Given the description of an element on the screen output the (x, y) to click on. 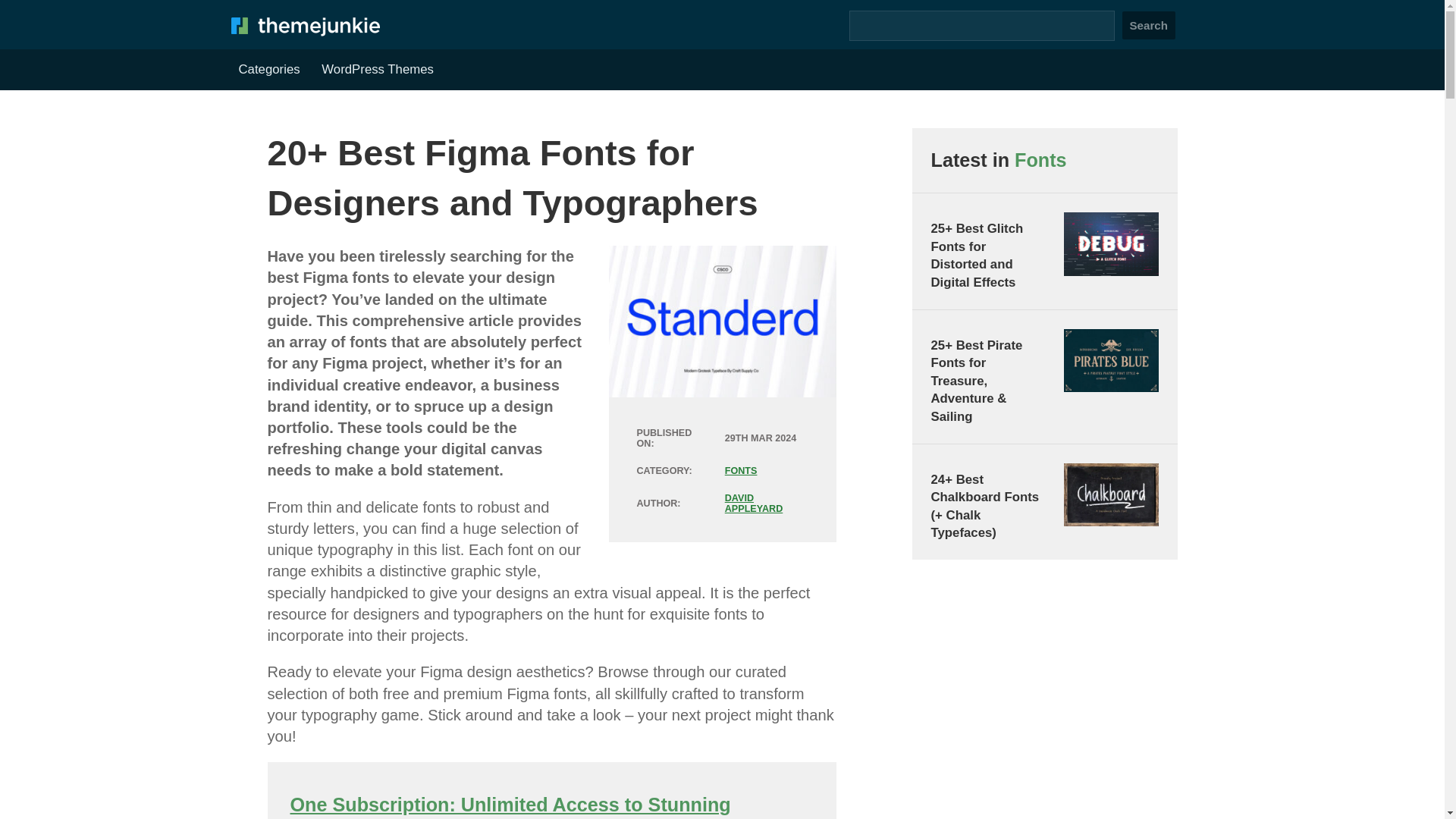
Search (1148, 25)
WordPress Themes (377, 69)
Search (1148, 25)
Categories (268, 69)
Posts by David Appleyard (754, 503)
